Given the description of an element on the screen output the (x, y) to click on. 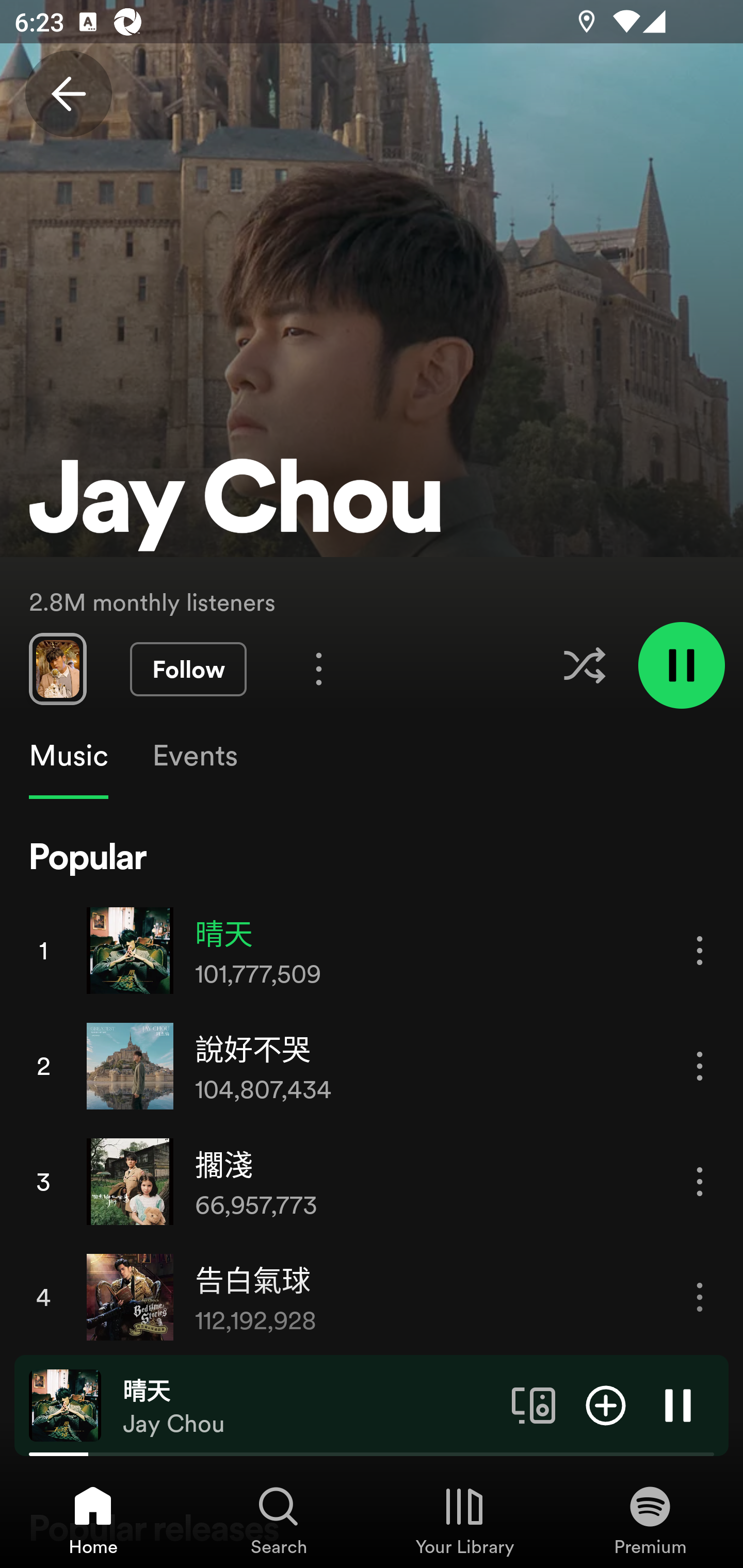
Back (68, 93)
Pause artist (681, 664)
Enable shuffle for this artist (583, 665)
More options for artist Jay Chou (318, 668)
Follow (188, 669)
Events (194, 755)
More options for song 晴天 (699, 950)
2 說好不哭 104,807,434 More options for song 說好不哭 (371, 1066)
More options for song 說好不哭 (699, 1066)
3 擱淺 66,957,773 More options for song 擱淺 (371, 1181)
More options for song 擱淺 (699, 1181)
4 告白氣球 112,192,928 More options for song 告白氣球 (371, 1296)
More options for song 告白氣球 (699, 1297)
晴天 Jay Chou (309, 1405)
The cover art of the currently playing track (64, 1404)
Connect to a device. Opens the devices menu (533, 1404)
Add item (605, 1404)
Pause (677, 1404)
Home, Tab 1 of 4 Home Home (92, 1519)
Search, Tab 2 of 4 Search Search (278, 1519)
Your Library, Tab 3 of 4 Your Library Your Library (464, 1519)
Premium, Tab 4 of 4 Premium Premium (650, 1519)
